Given the description of an element on the screen output the (x, y) to click on. 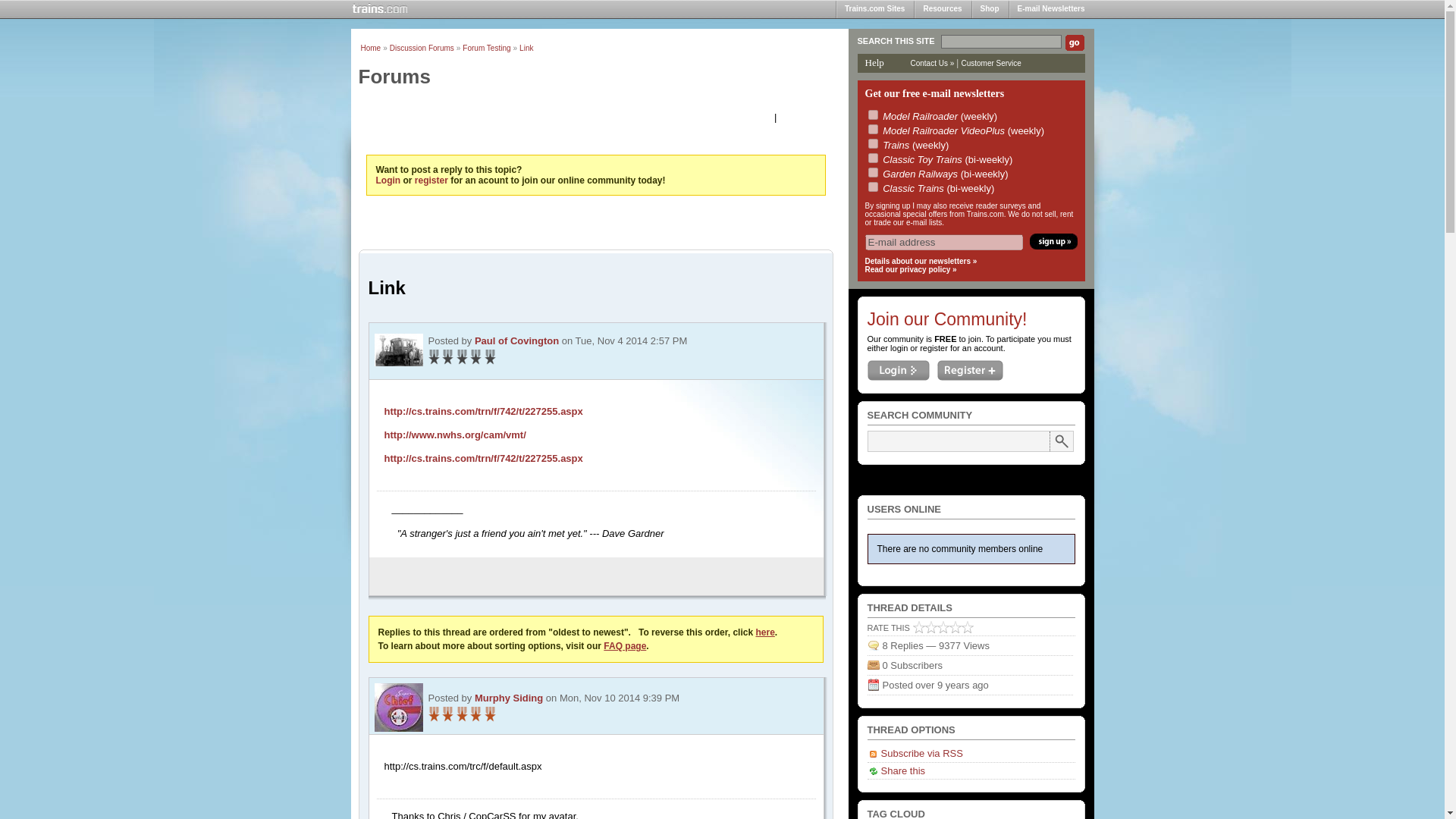
Share this (896, 770)
Trains.com Sites (874, 9)
E-mail address (943, 242)
Shop (990, 9)
E-mail Newsletters (1051, 9)
on (872, 129)
register (431, 180)
Trains.com Sites (874, 9)
on (872, 172)
on (872, 157)
